Given the description of an element on the screen output the (x, y) to click on. 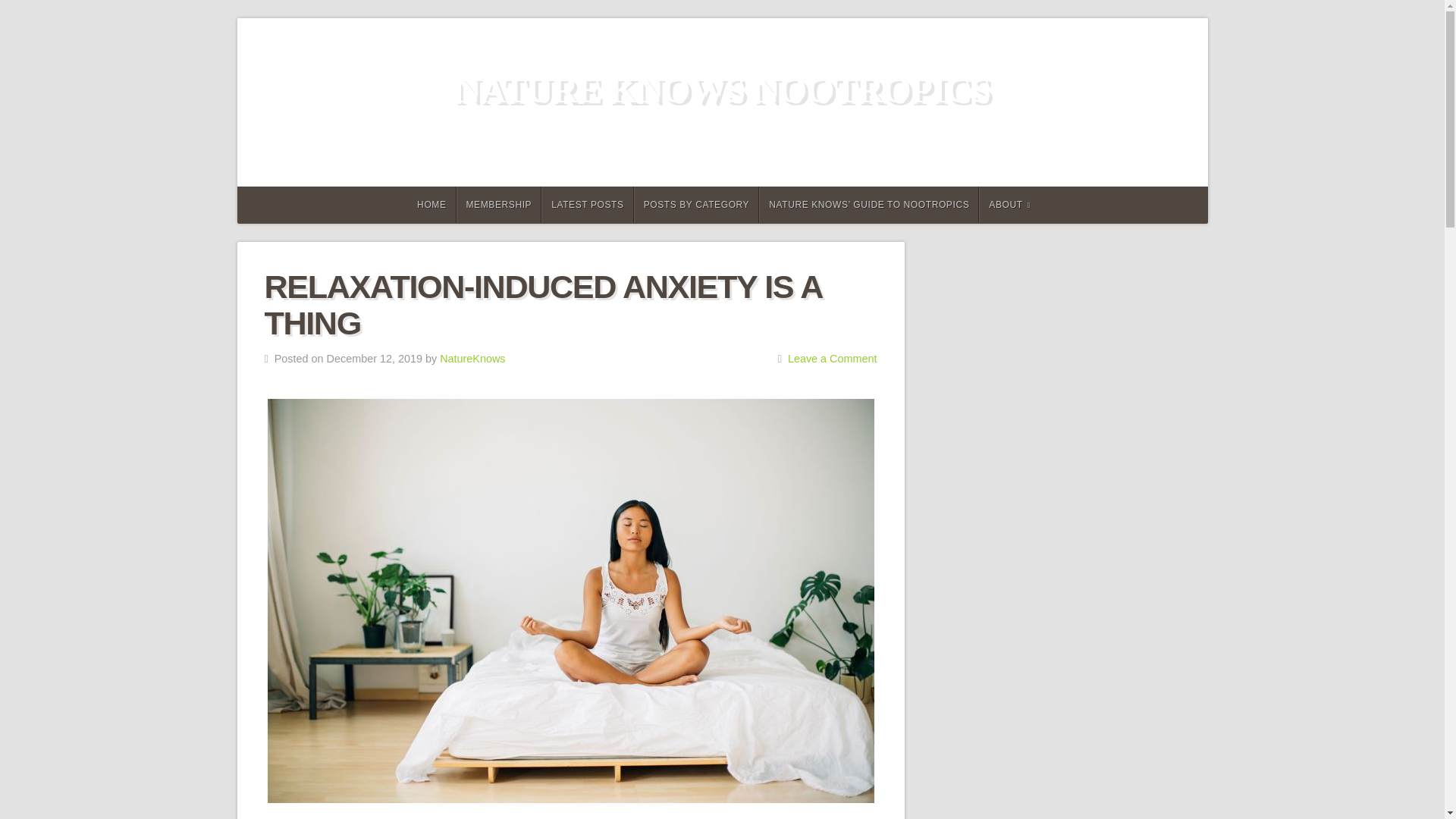
ABOUT (1008, 204)
MEMBERSHIP (499, 204)
HOME (429, 204)
NatureKnows (472, 357)
Leave a Comment (832, 357)
Posts by NatureKnows (472, 357)
NATURE KNOWS NOOTROPICS (722, 89)
Leave a Comment (832, 357)
POSTS BY CATEGORY (696, 204)
LATEST POSTS (587, 204)
